Given the description of an element on the screen output the (x, y) to click on. 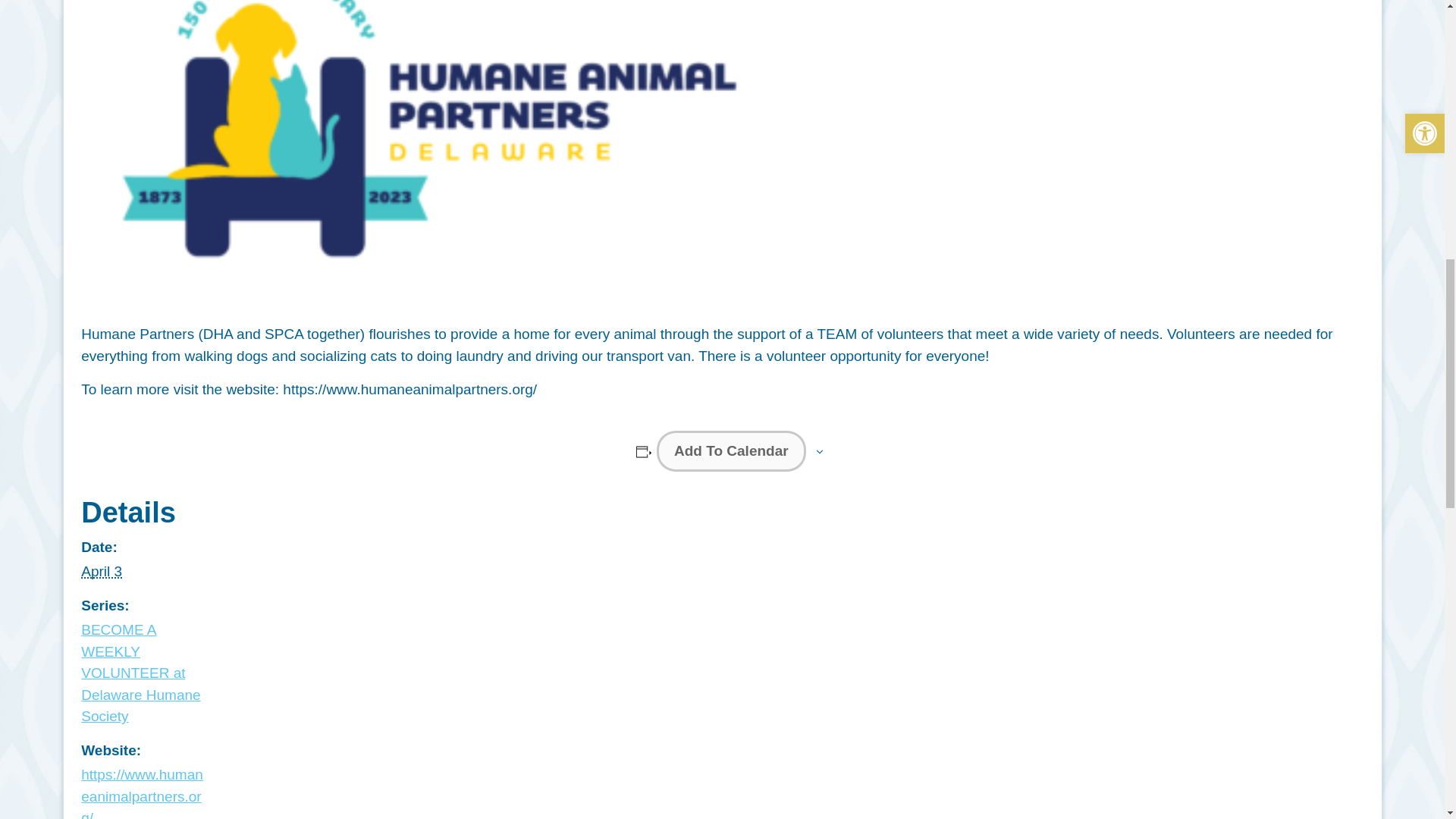
2024-04-03 (101, 571)
BECOME A WEEKLY VOLUNTEER at Delaware Humane Society (140, 672)
BECOME A WEEKLY VOLUNTEER at Delaware Humane Society (140, 672)
Add To Calendar (731, 451)
